Given the description of an element on the screen output the (x, y) to click on. 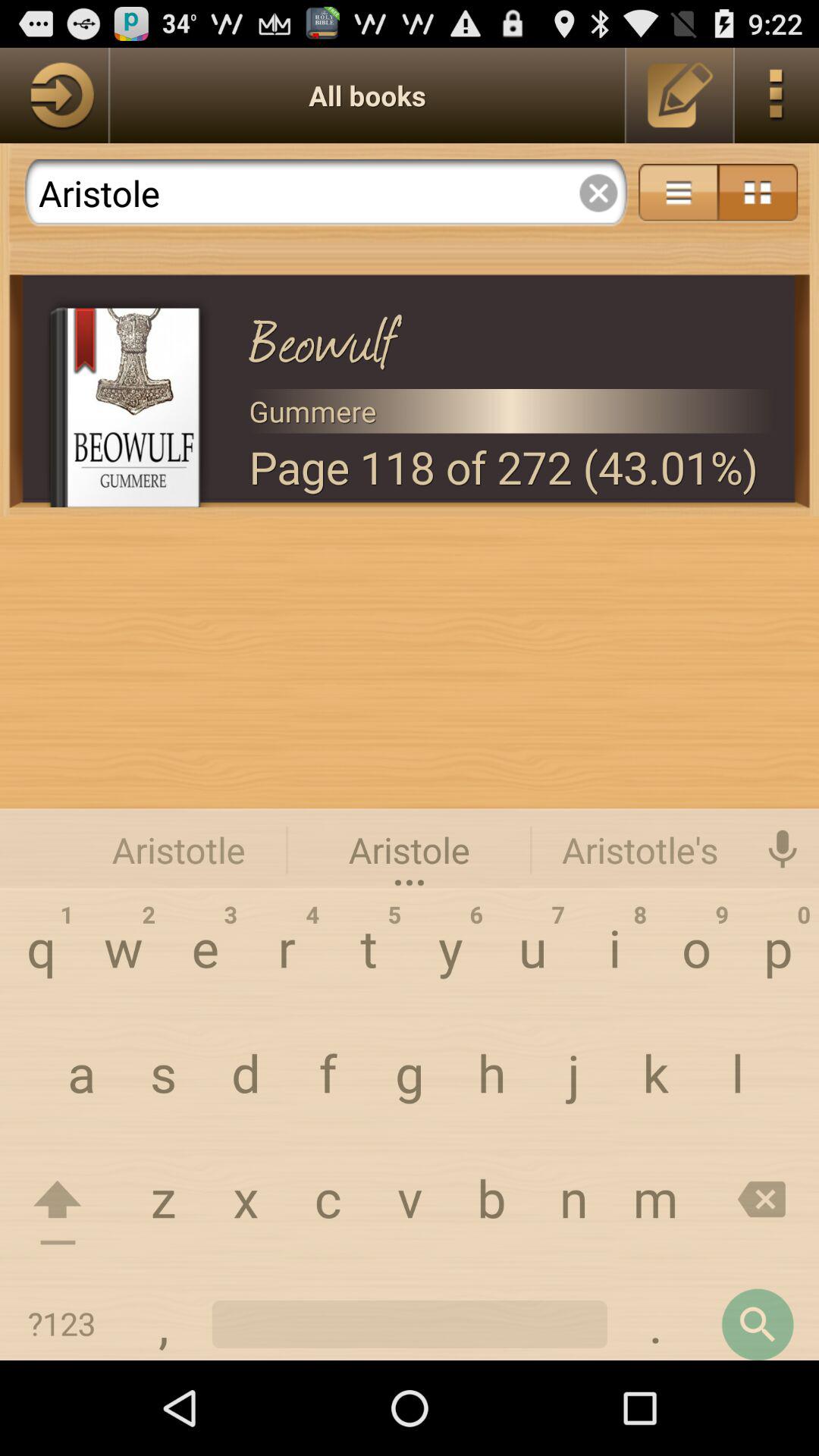
next option (54, 95)
